Given the description of an element on the screen output the (x, y) to click on. 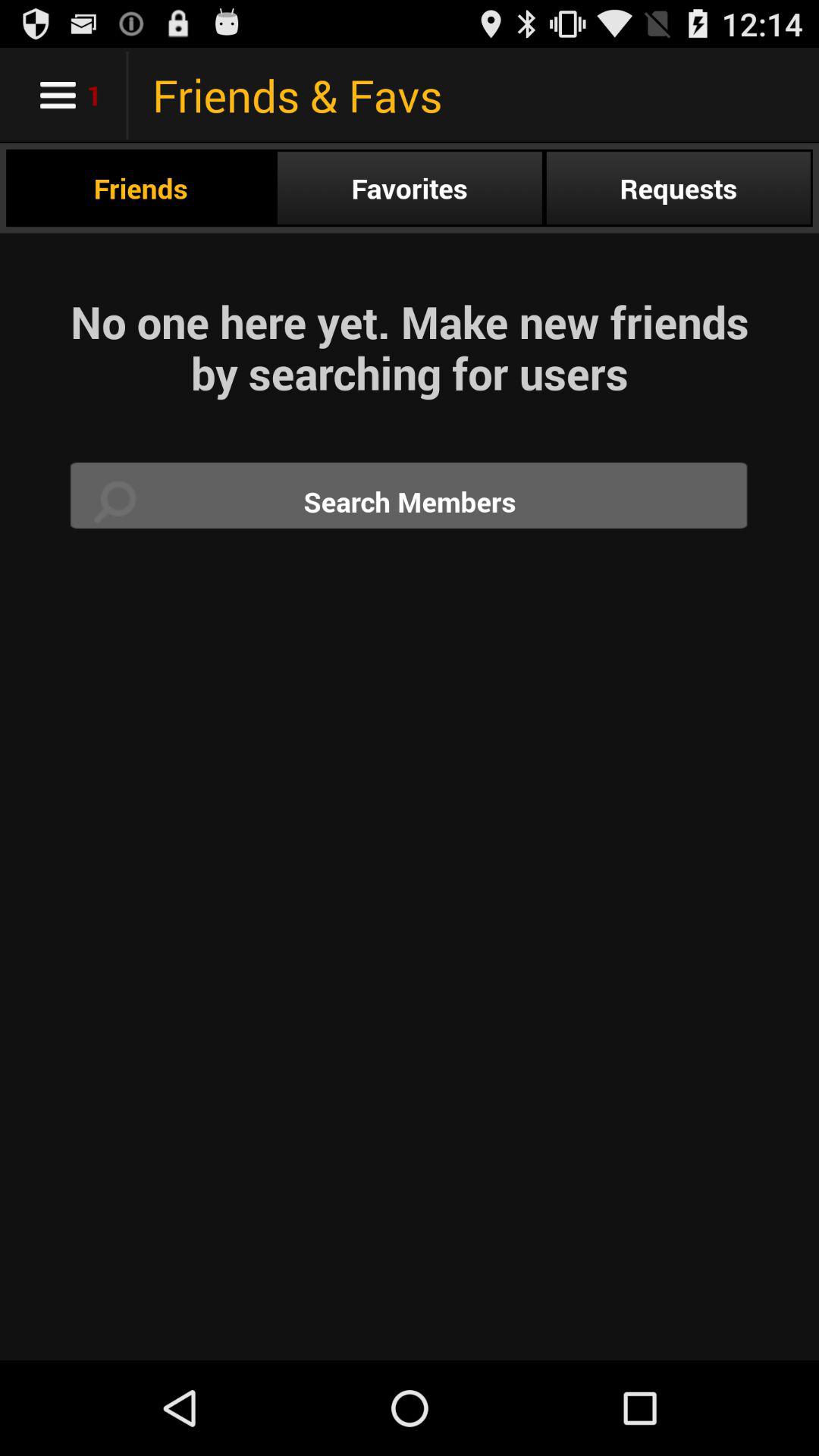
use keyword to search members (409, 501)
